Given the description of an element on the screen output the (x, y) to click on. 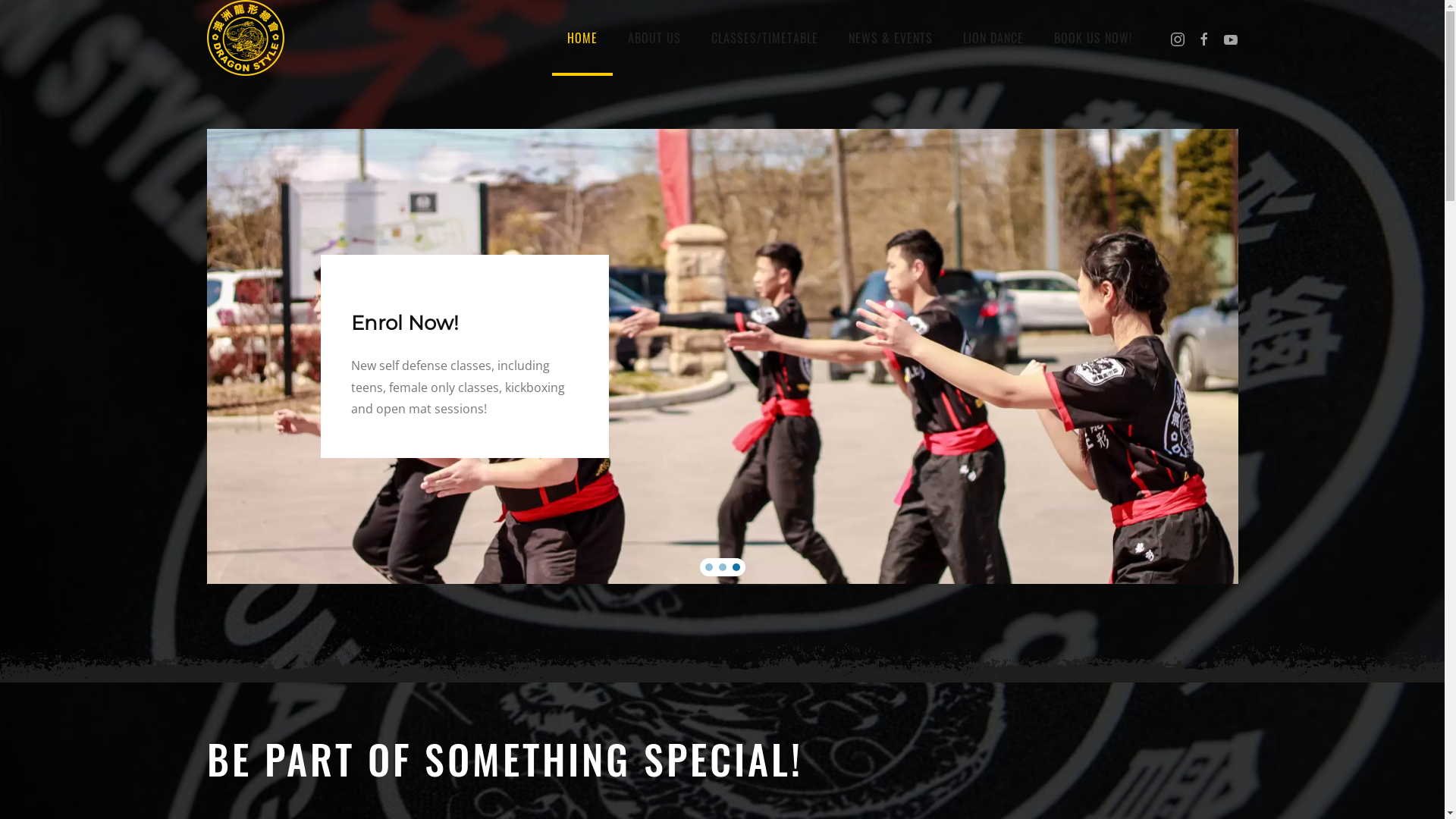
CLASSES/TIMETABLE Element type: text (764, 37)
BOOK US NOW! Element type: text (1092, 37)
ABOUT US Element type: text (654, 37)
NEWS & EVENTS Element type: text (889, 37)
LION DANCE Element type: text (992, 37)
HOME Element type: text (582, 37)
